Given the description of an element on the screen output the (x, y) to click on. 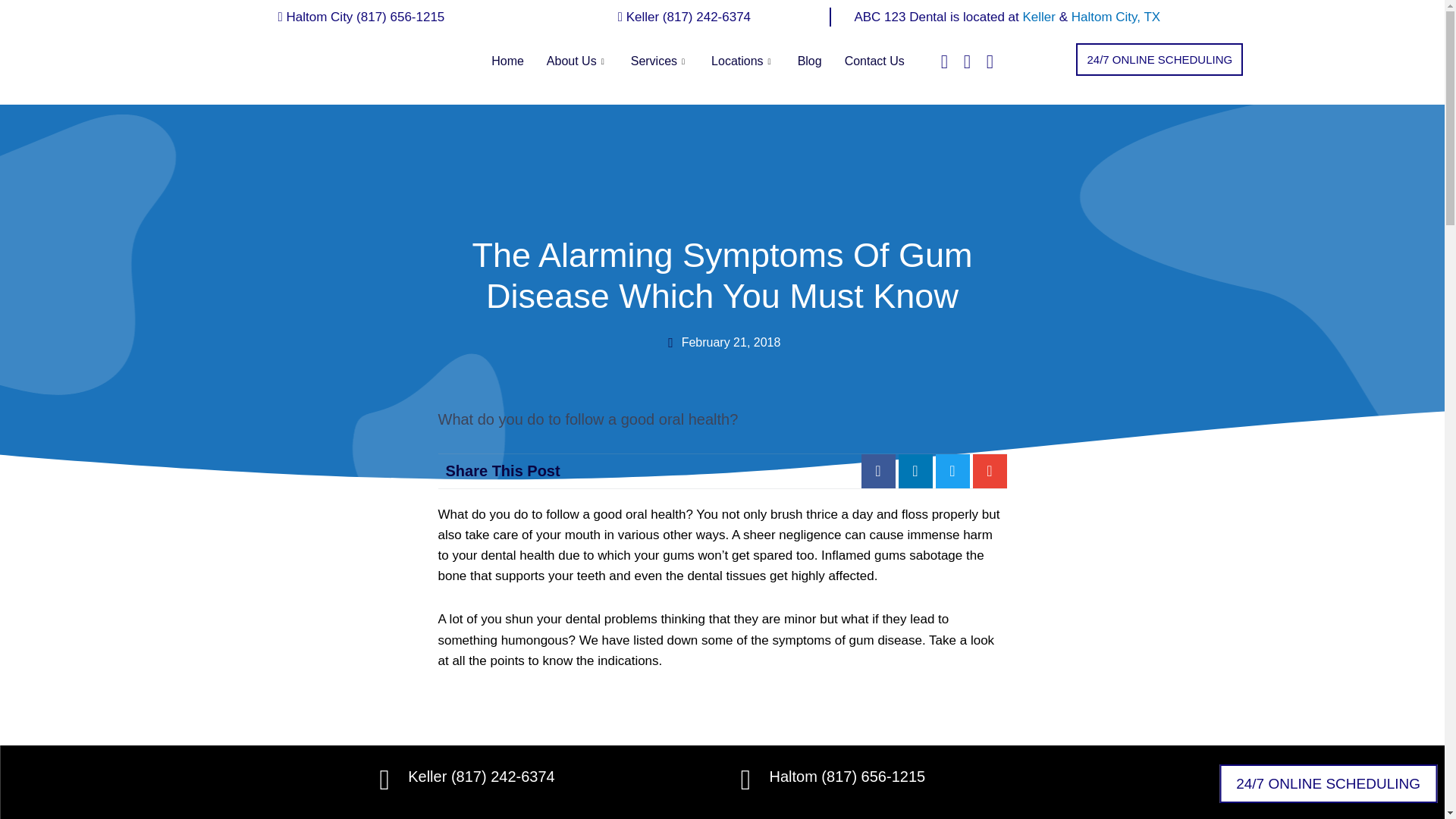
About Us (577, 60)
Keller (1040, 16)
Locations (743, 60)
Services (660, 60)
Home (507, 60)
Haltom City, TX (1115, 16)
Blog (809, 60)
Instagram (988, 61)
Twitter (967, 61)
Facebook-square (943, 61)
Contact Us (873, 60)
